Given the description of an element on the screen output the (x, y) to click on. 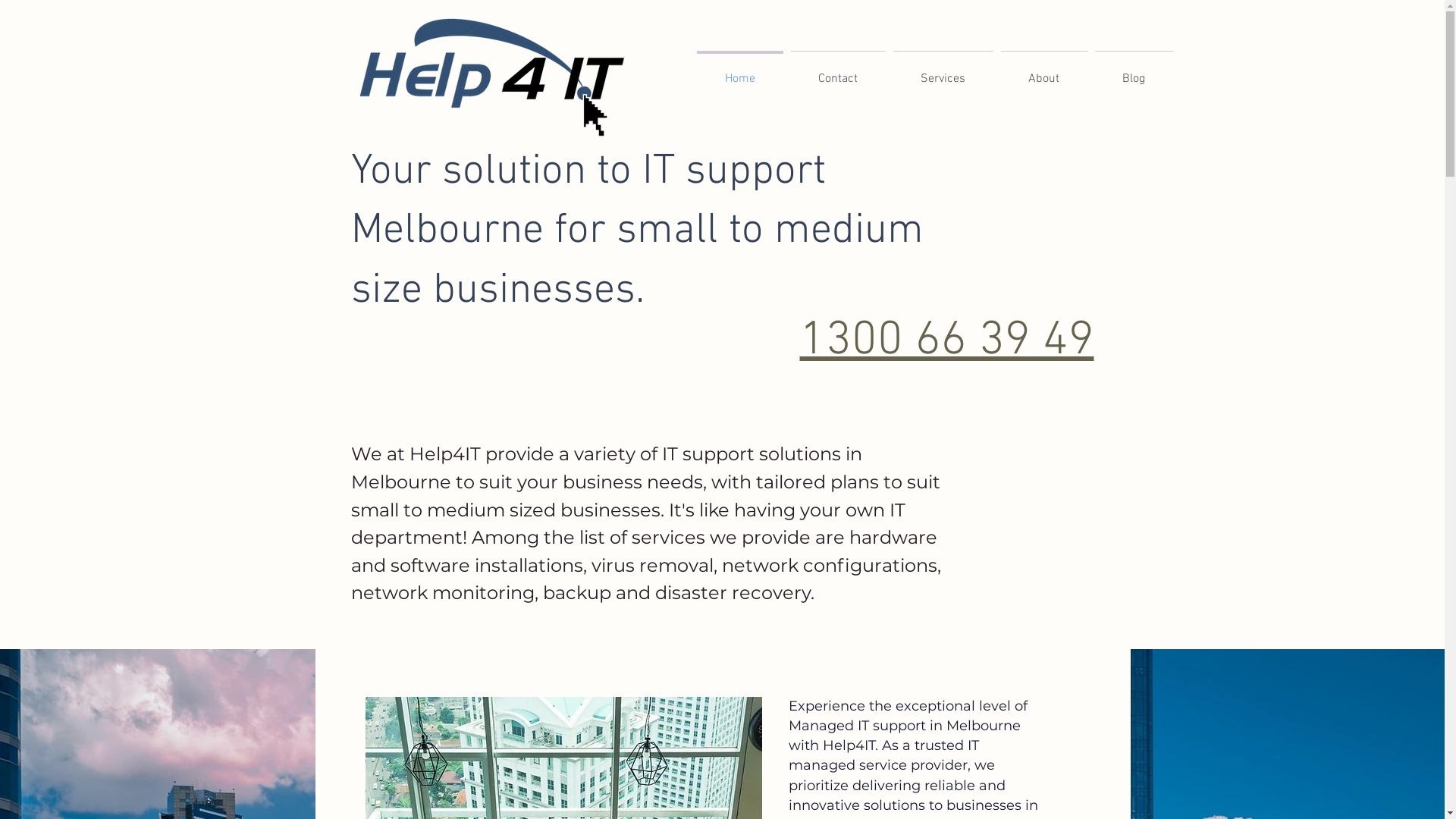
Blog Element type: text (1133, 71)
Services Element type: text (942, 71)
Contact Element type: text (838, 71)
1300 66 39 49 Element type: text (946, 341)
About Element type: text (1043, 71)
Home Element type: text (740, 71)
